Given the description of an element on the screen output the (x, y) to click on. 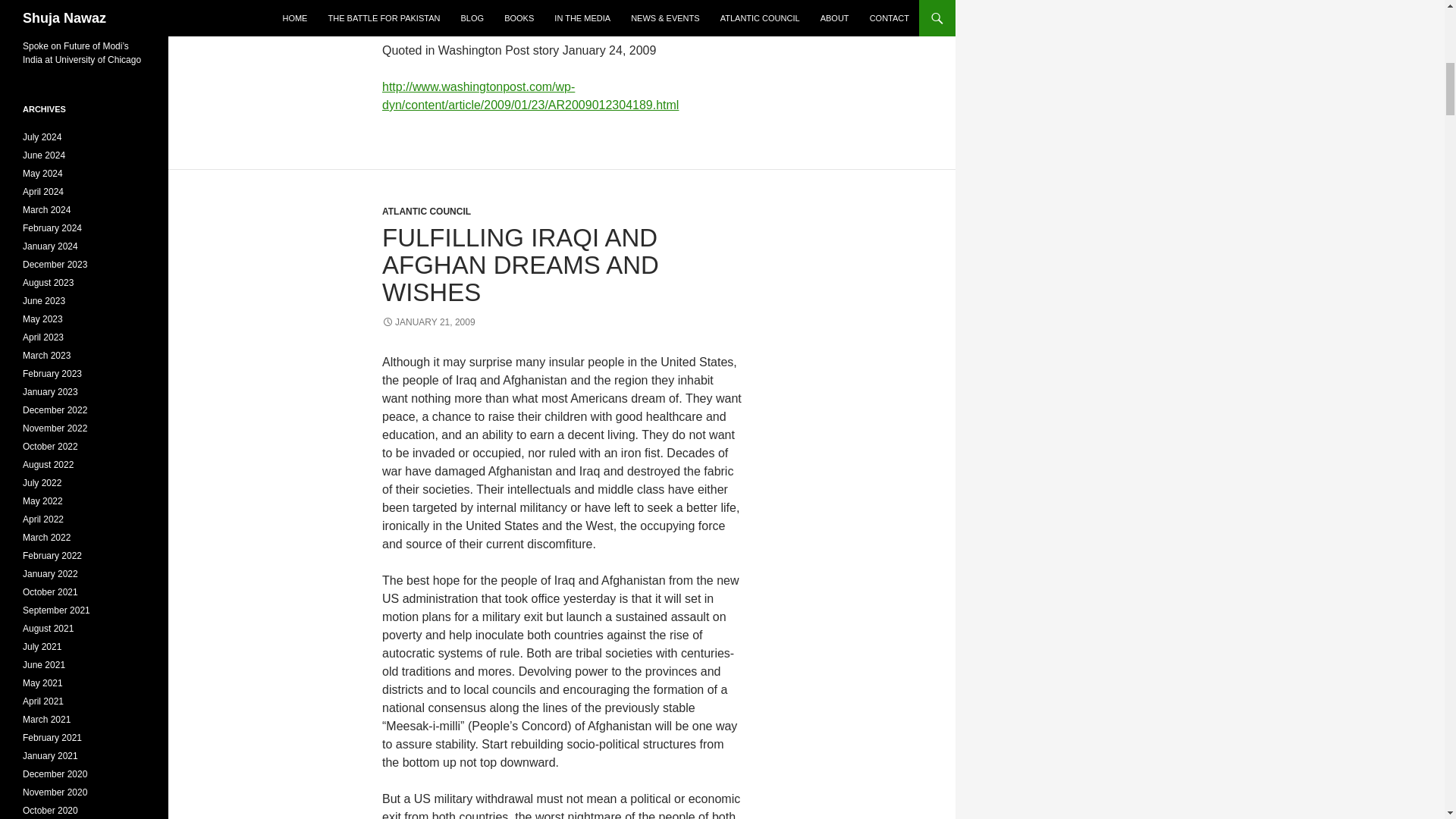
FULFILLING IRAQI AND AFGHAN DREAMS AND WISHES (520, 264)
ATLANTIC COUNCIL (425, 211)
JANUARY 21, 2009 (428, 321)
JANUARY 24, 2009 (428, 9)
